Given the description of an element on the screen output the (x, y) to click on. 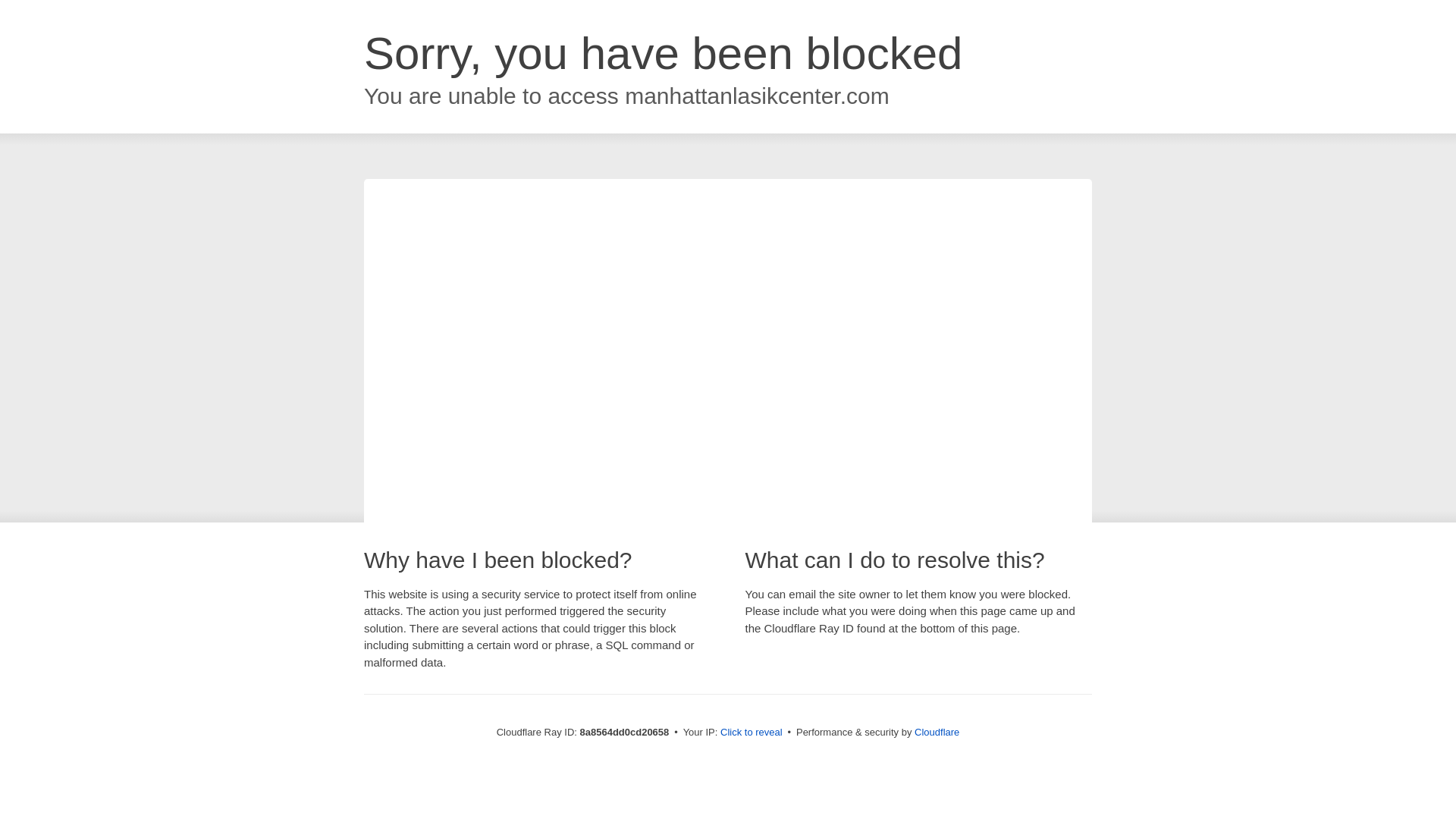
Cloudflare (936, 731)
Click to reveal (751, 732)
